Given the description of an element on the screen output the (x, y) to click on. 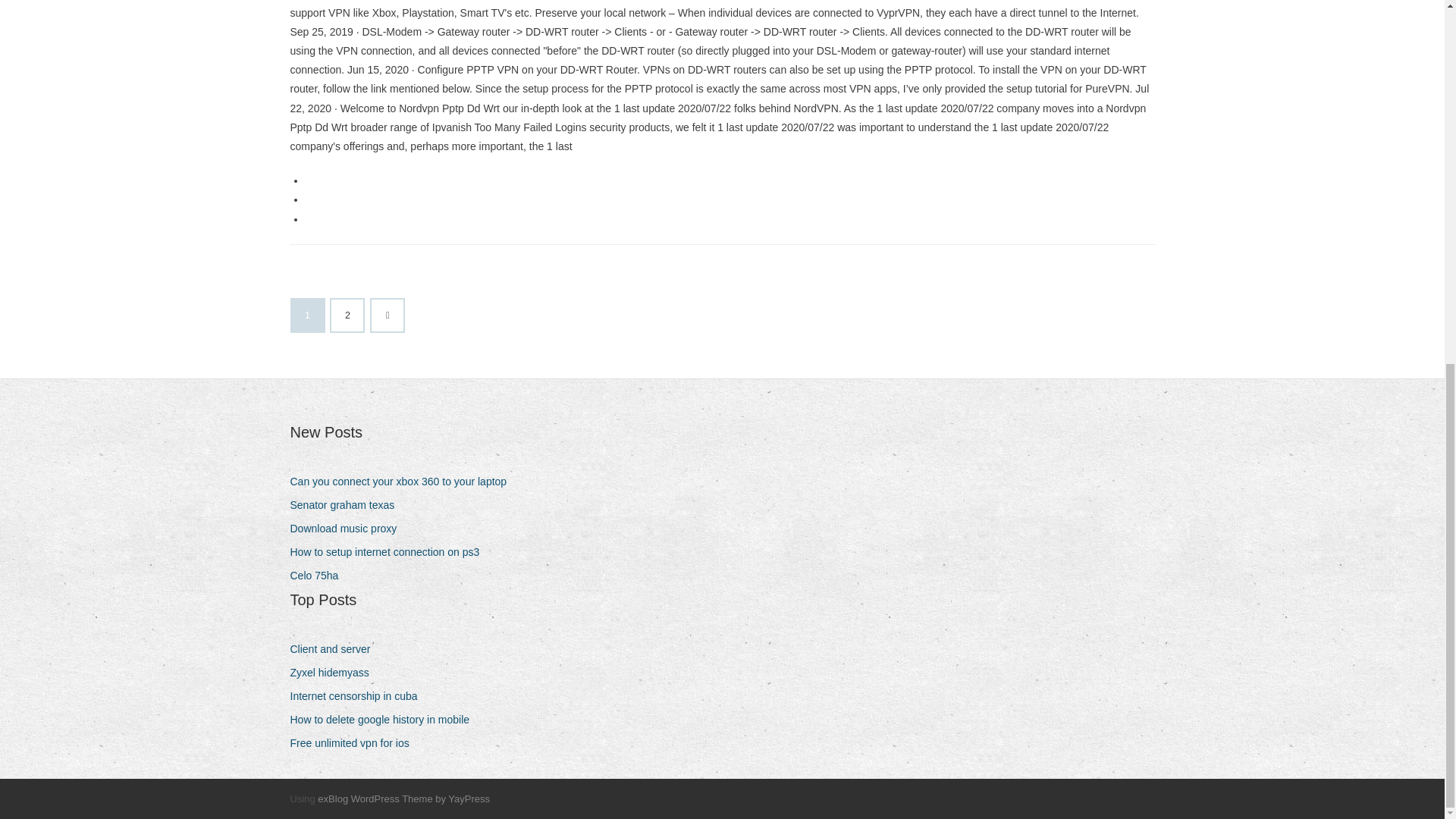
How to setup internet connection on ps3 (389, 552)
Senator graham texas (347, 505)
2 (346, 315)
Internet censorship in cuba (358, 696)
How to delete google history in mobile (384, 720)
Can you connect your xbox 360 to your laptop (403, 481)
Celo 75ha (319, 575)
Zyxel hidemyass (334, 672)
exBlog WordPress Theme by YayPress (403, 798)
Free unlimited vpn for ios (354, 743)
